Given the description of an element on the screen output the (x, y) to click on. 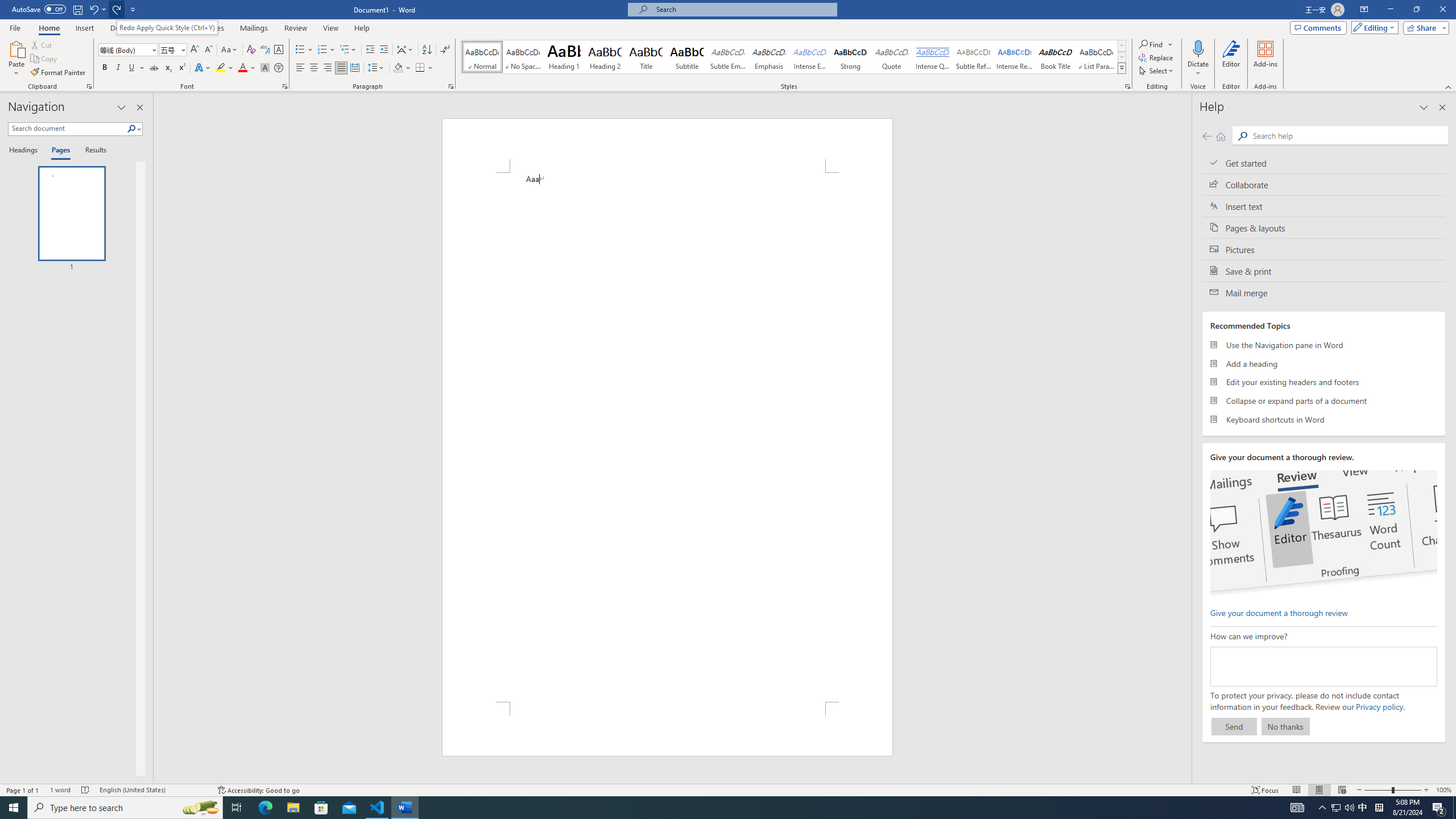
Use the Navigation pane in Word (1323, 344)
Heading 2 (605, 56)
Subtle Reference (973, 56)
Undo Increase Indent (92, 9)
Add a heading (1323, 363)
Quote (891, 56)
